Given the description of an element on the screen output the (x, y) to click on. 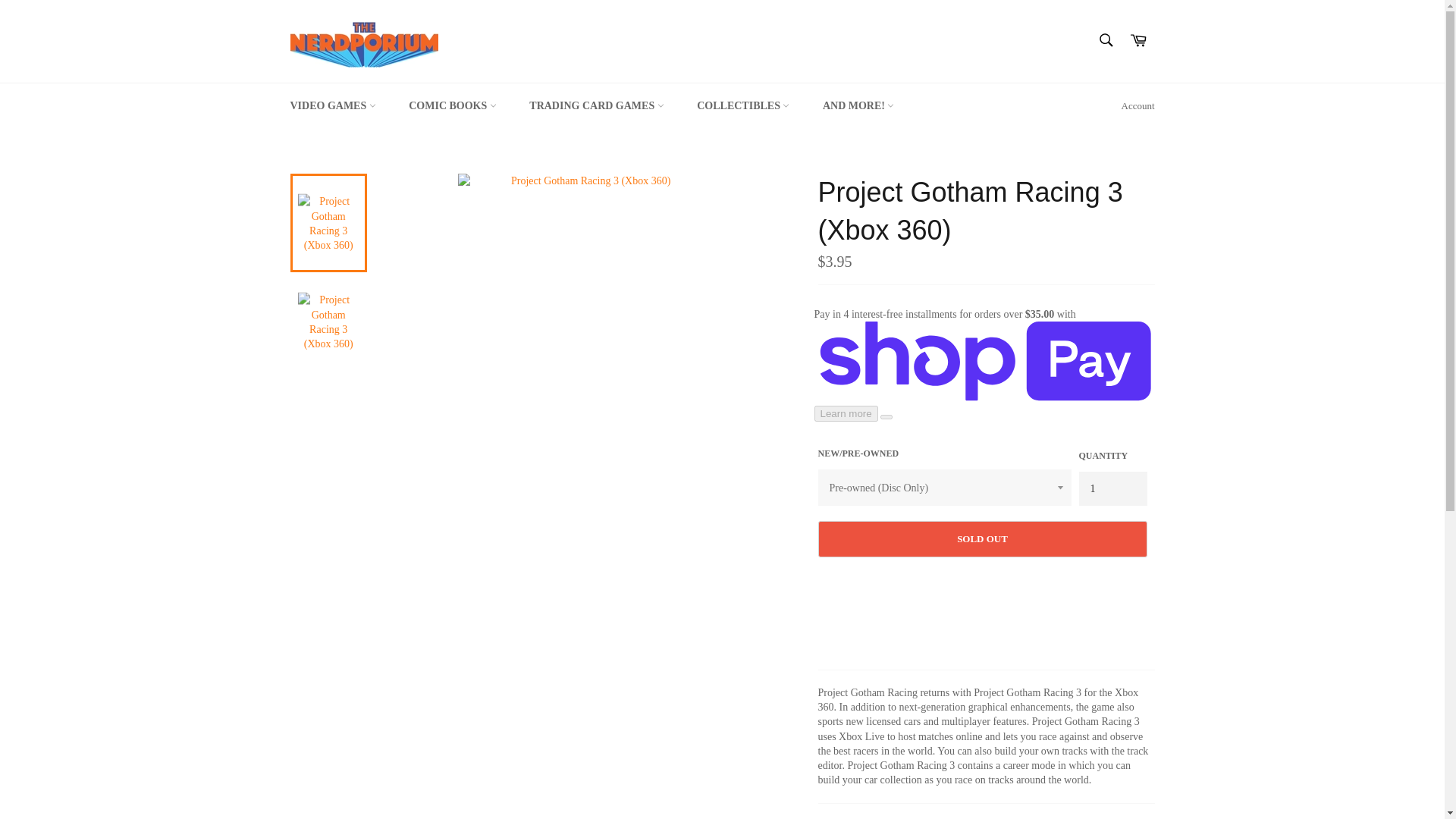
1 (1112, 488)
